Given the description of an element on the screen output the (x, y) to click on. 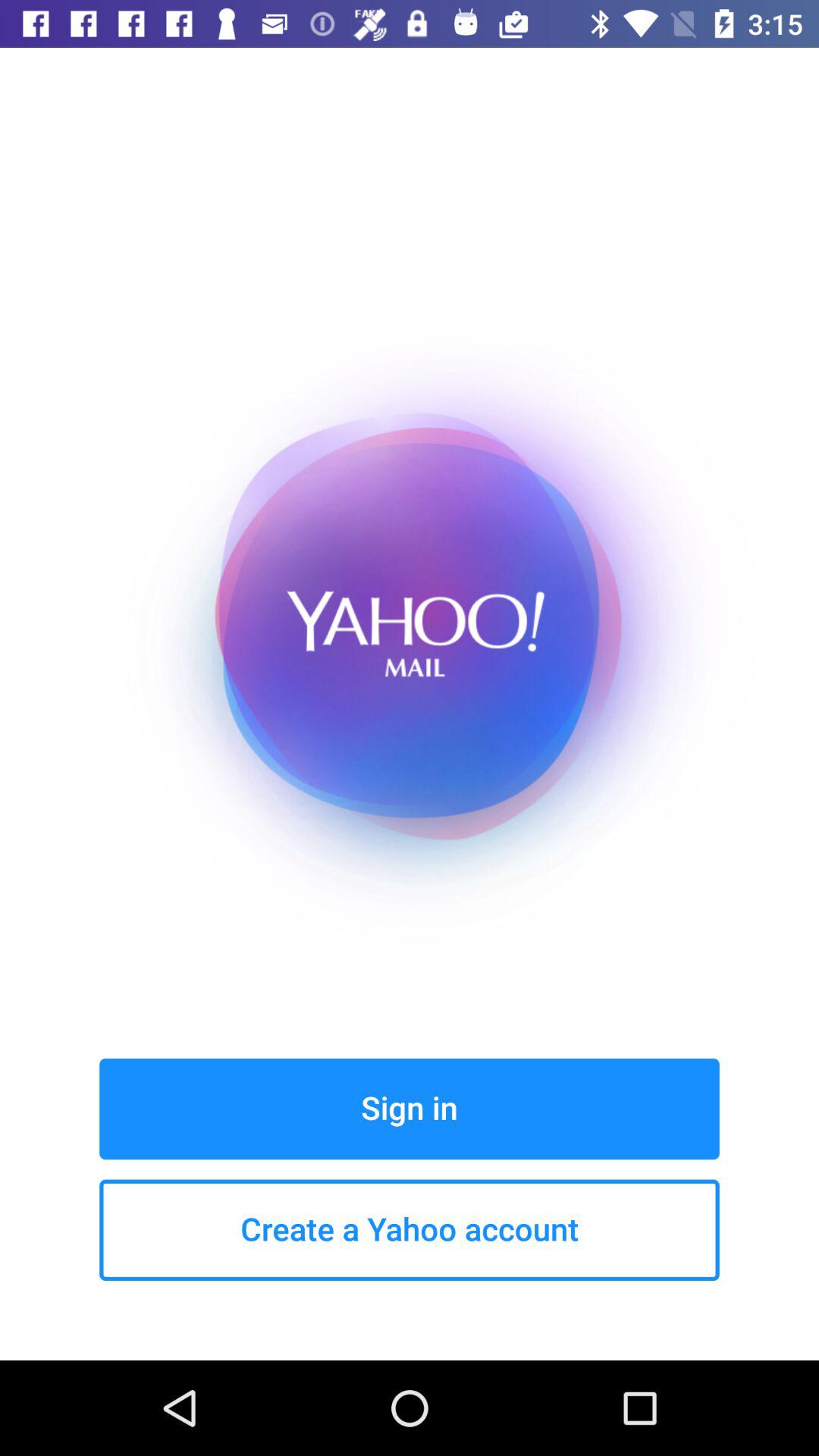
open item above create a yahoo icon (409, 1108)
